Given the description of an element on the screen output the (x, y) to click on. 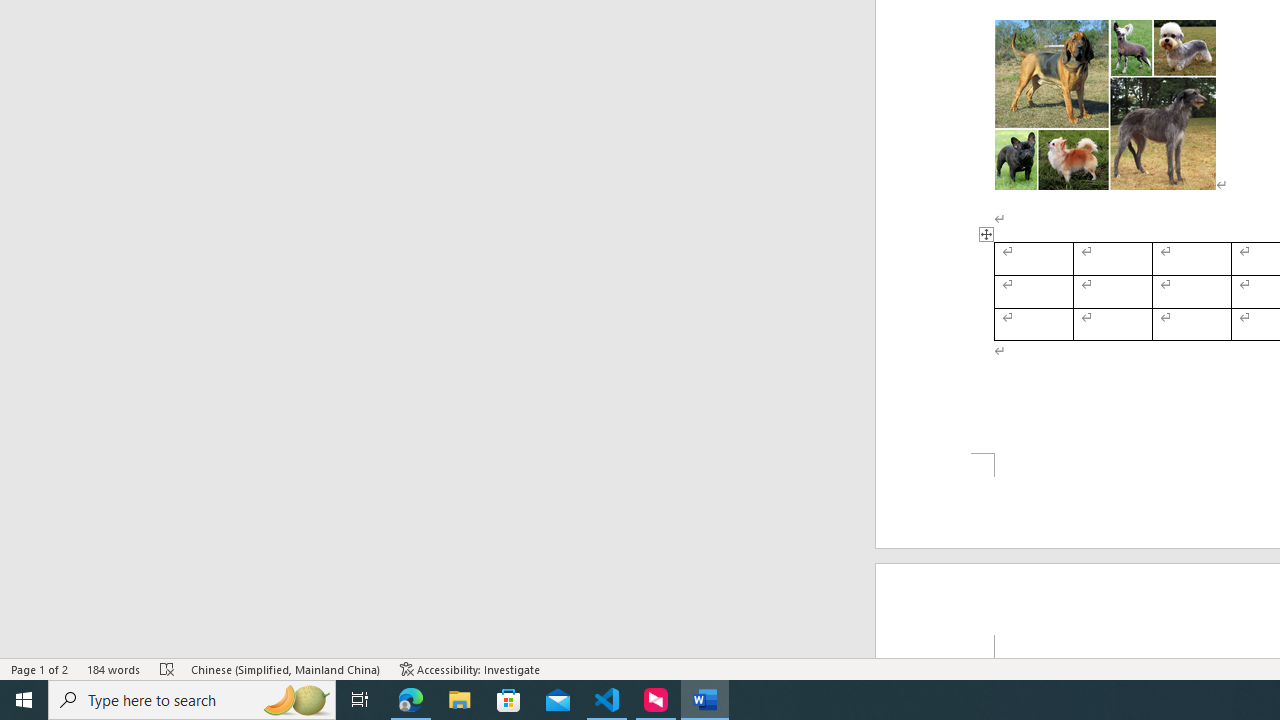
Visual Studio Code - 1 running window (607, 699)
Type here to search (191, 699)
Microsoft Edge - 1 running window (411, 699)
